Given the description of an element on the screen output the (x, y) to click on. 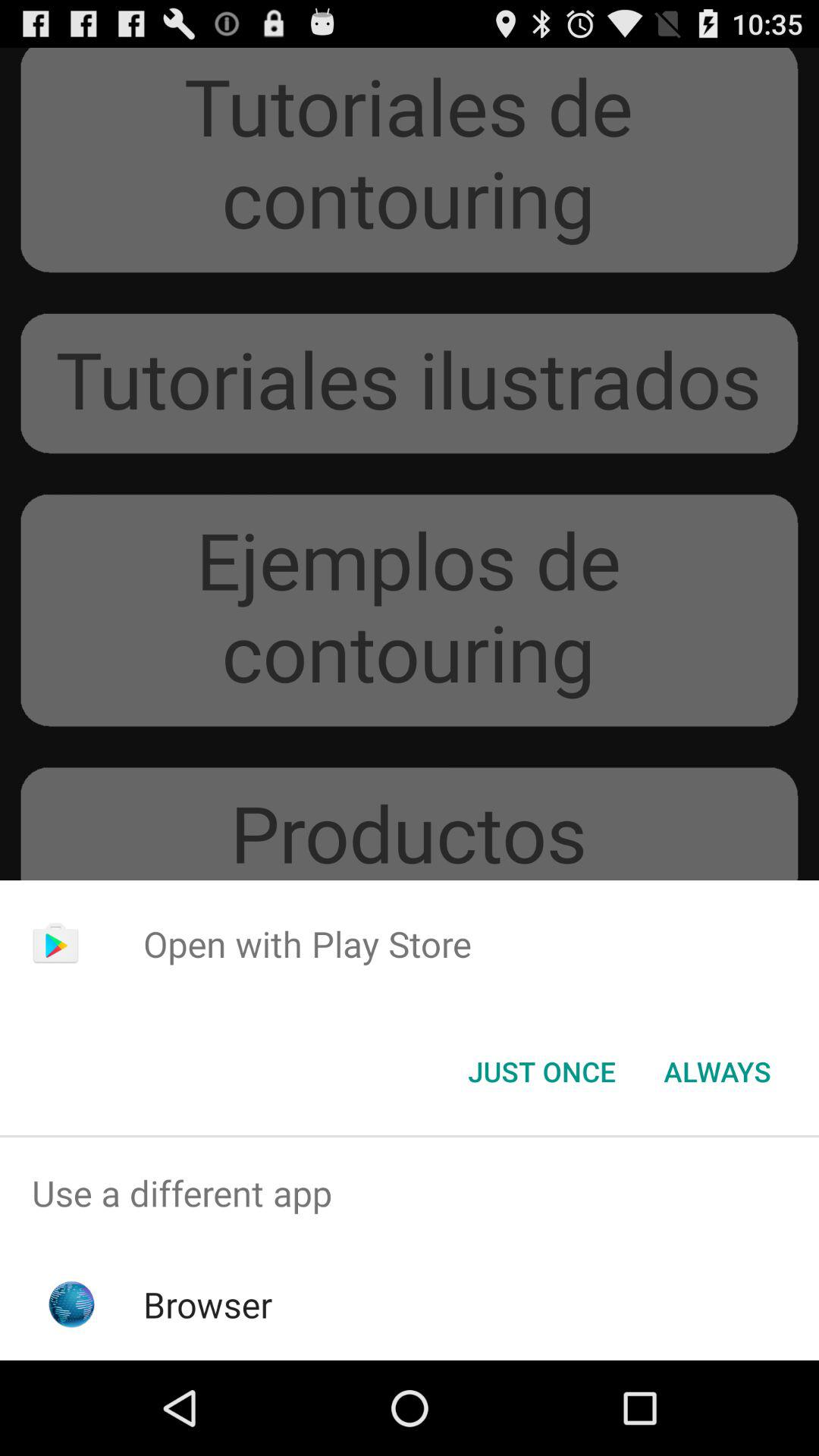
launch the browser icon (207, 1304)
